Given the description of an element on the screen output the (x, y) to click on. 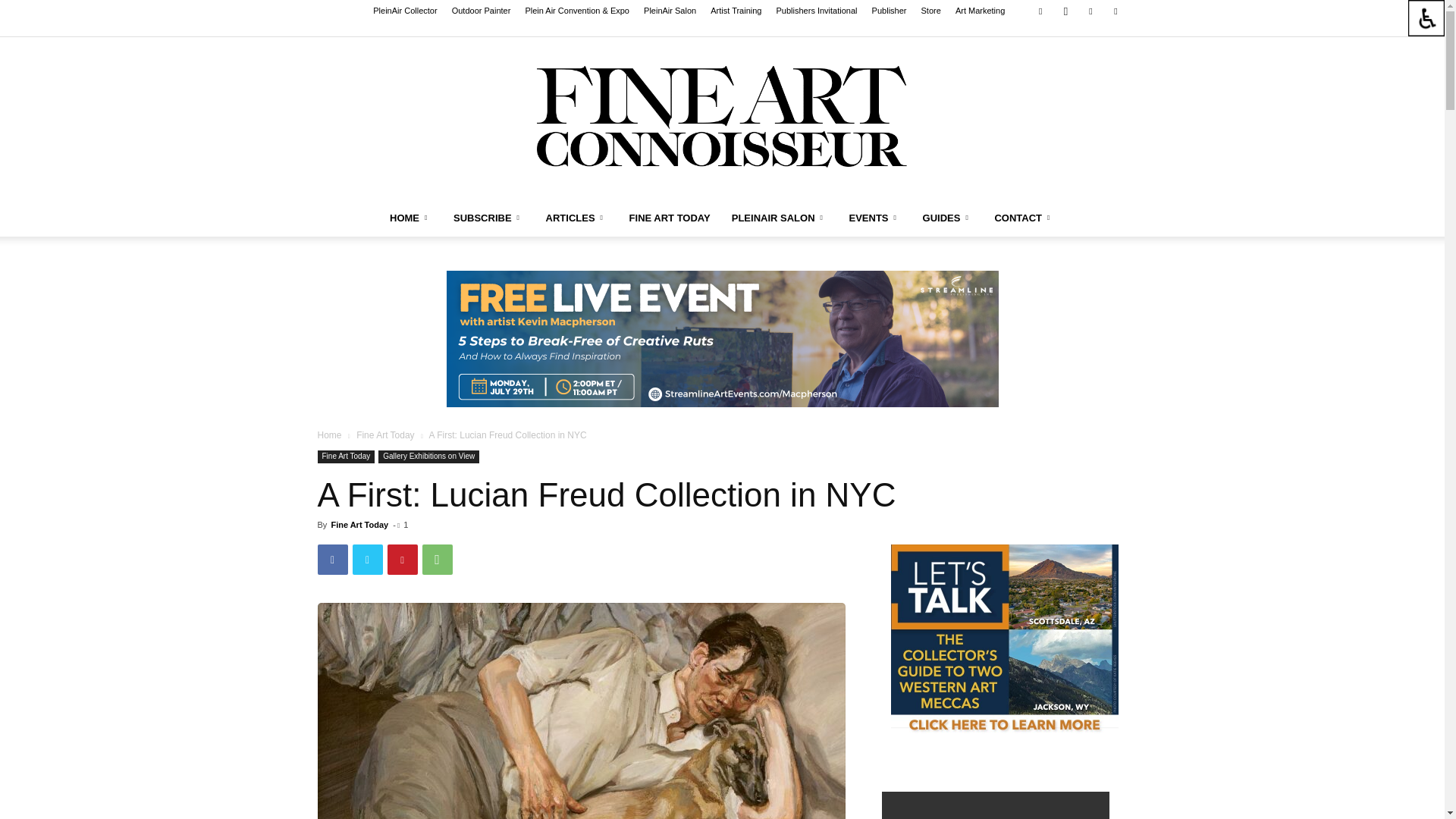
Fine Art Connoisseur Magazine (722, 118)
Lucian-Freud---Double-Portrait,-1988-90 (580, 710)
